Given the description of an element on the screen output the (x, y) to click on. 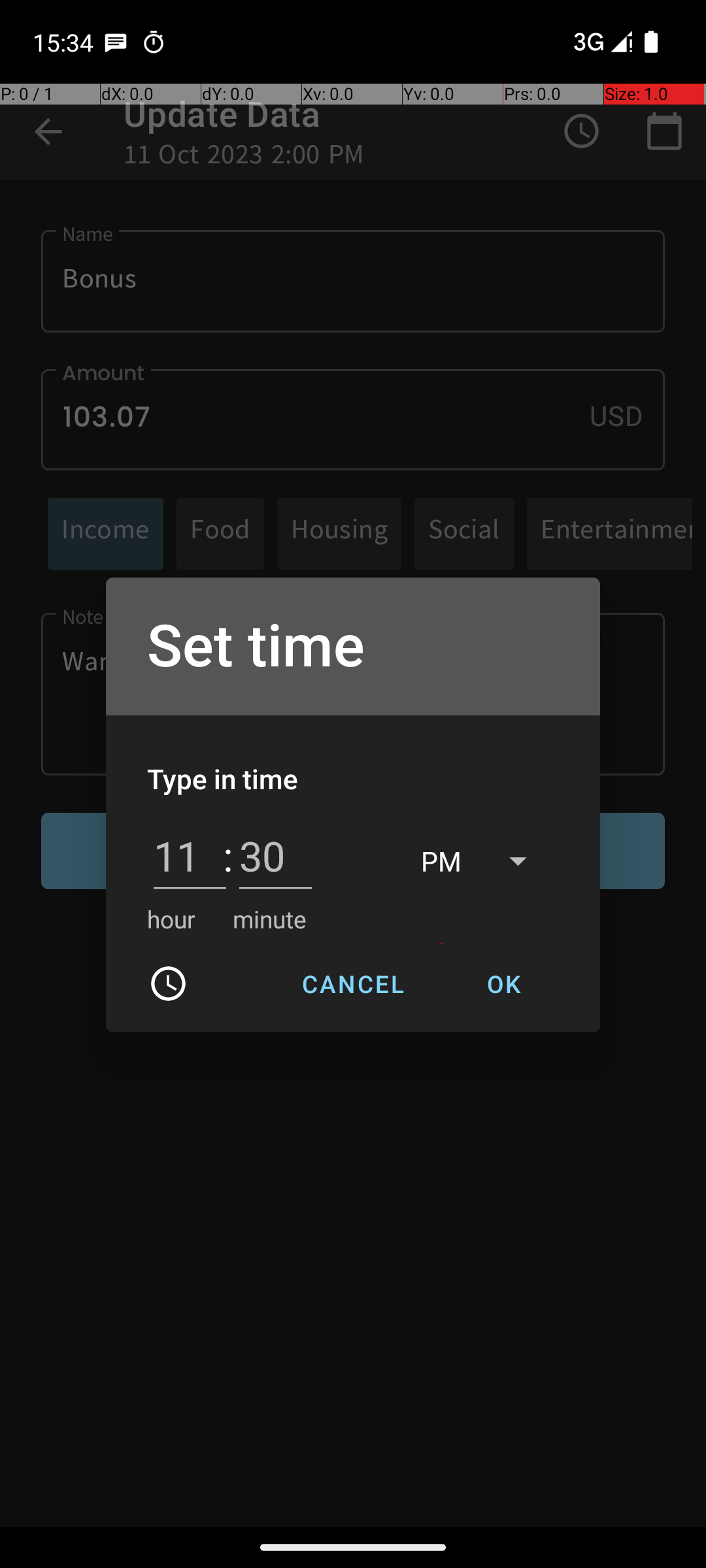
Set time Element type: android.widget.TextView (352, 646)
Type in time Element type: android.widget.TextView (222, 778)
: Element type: android.widget.TextView (227, 855)
hour Element type: android.widget.TextView (171, 918)
minute Element type: android.widget.TextView (269, 918)
Switch to clock mode for the time input. Element type: android.widget.ImageButton (167, 983)
